Given the description of an element on the screen output the (x, y) to click on. 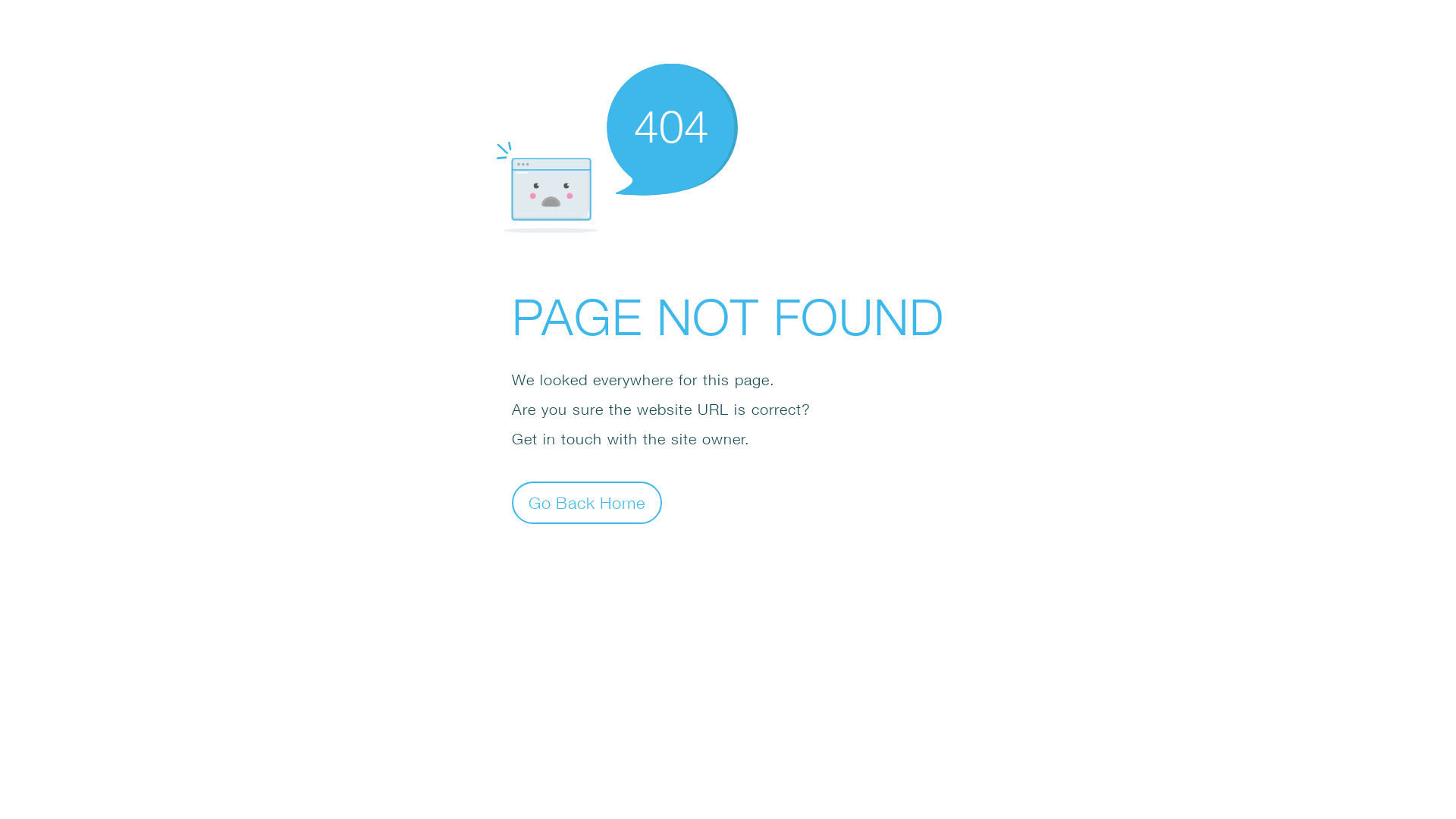
Go Back Home Element type: text (586, 502)
